Given the description of an element on the screen output the (x, y) to click on. 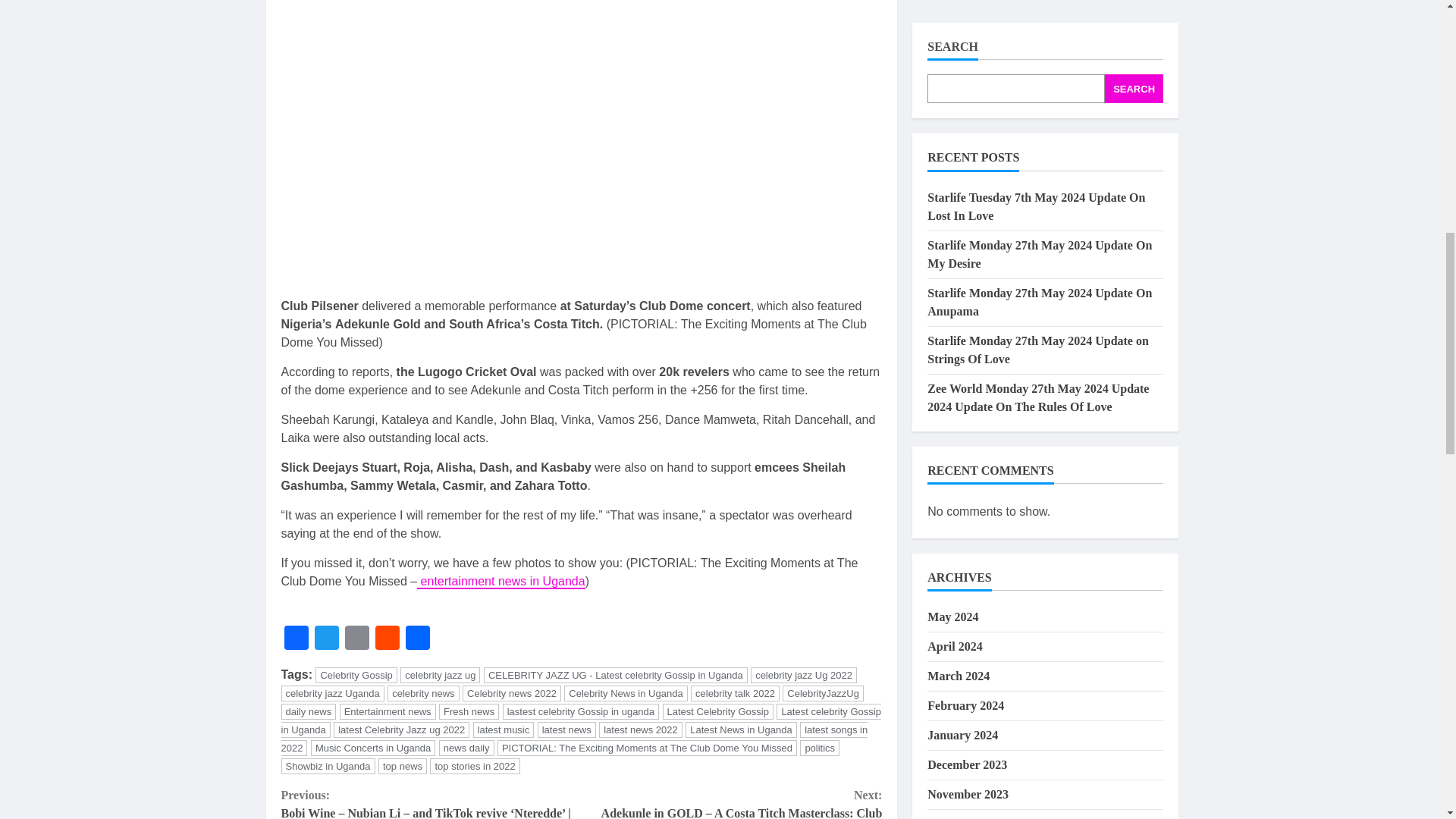
Facebook (296, 639)
Entertainment news (387, 711)
celebrity talk 2022 (734, 693)
Celebrity Gossip (355, 675)
Celebrity News in Uganda (625, 693)
Twitter (325, 639)
Facebook (296, 639)
celebrity news (422, 693)
lastest celebrity Gossip in uganda (580, 711)
entertainment news in Uganda (500, 581)
Reddit (386, 639)
CELEBRITY JAZZ UG - Latest celebrity Gossip in Uganda (615, 675)
Twitter (325, 639)
celebrity jazz ug (440, 675)
CelebrityJazzUg (823, 693)
